Given the description of an element on the screen output the (x, y) to click on. 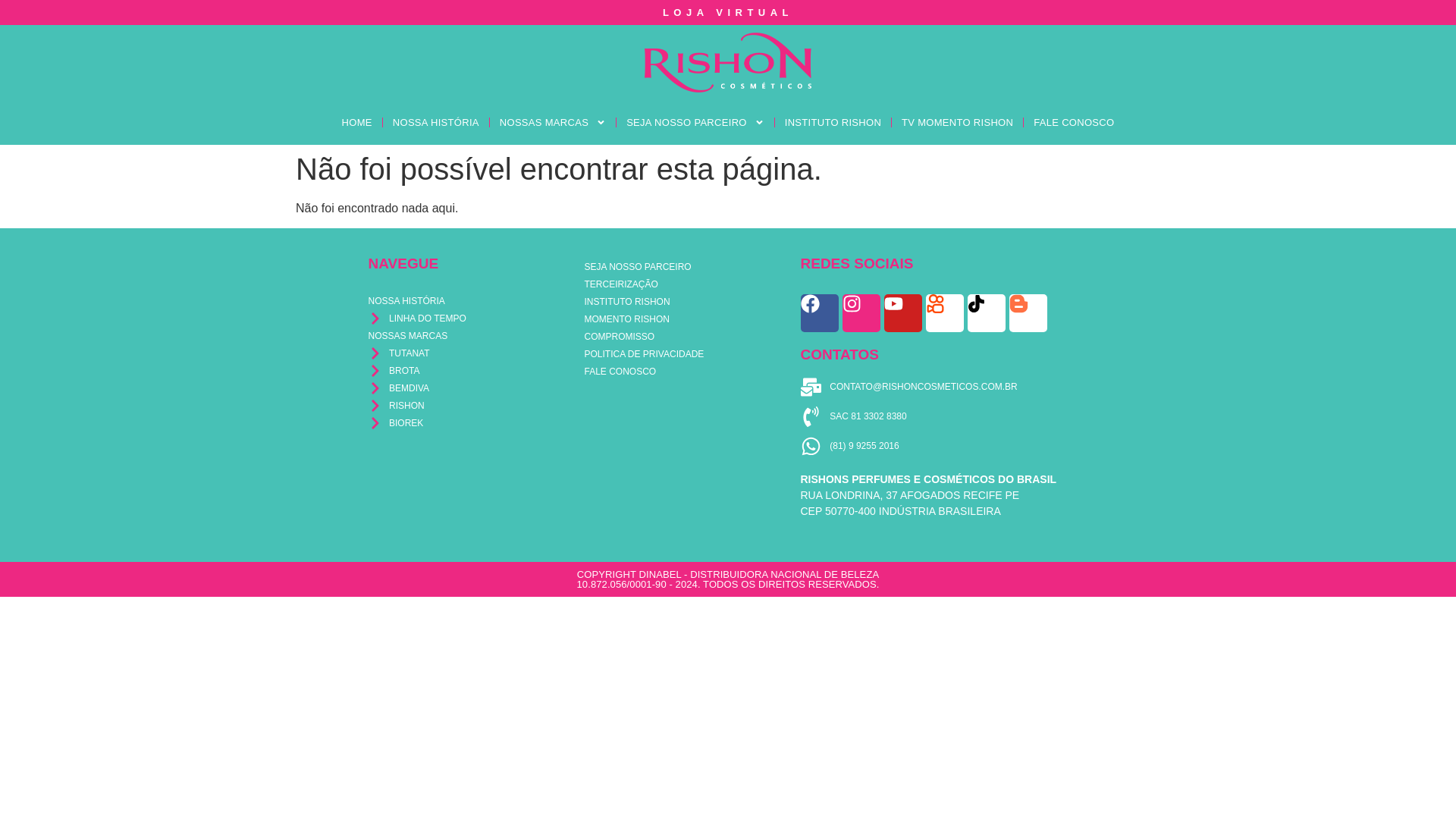
NOSSAS MARCAS (552, 122)
TV MOMENTO RISHON (957, 122)
INSTITUTO RISHON (832, 122)
SEJA NOSSO PARCEIRO (694, 122)
HOME (356, 122)
FALE CONOSCO (1073, 122)
LOJA VIRTUAL (727, 12)
